Given the description of an element on the screen output the (x, y) to click on. 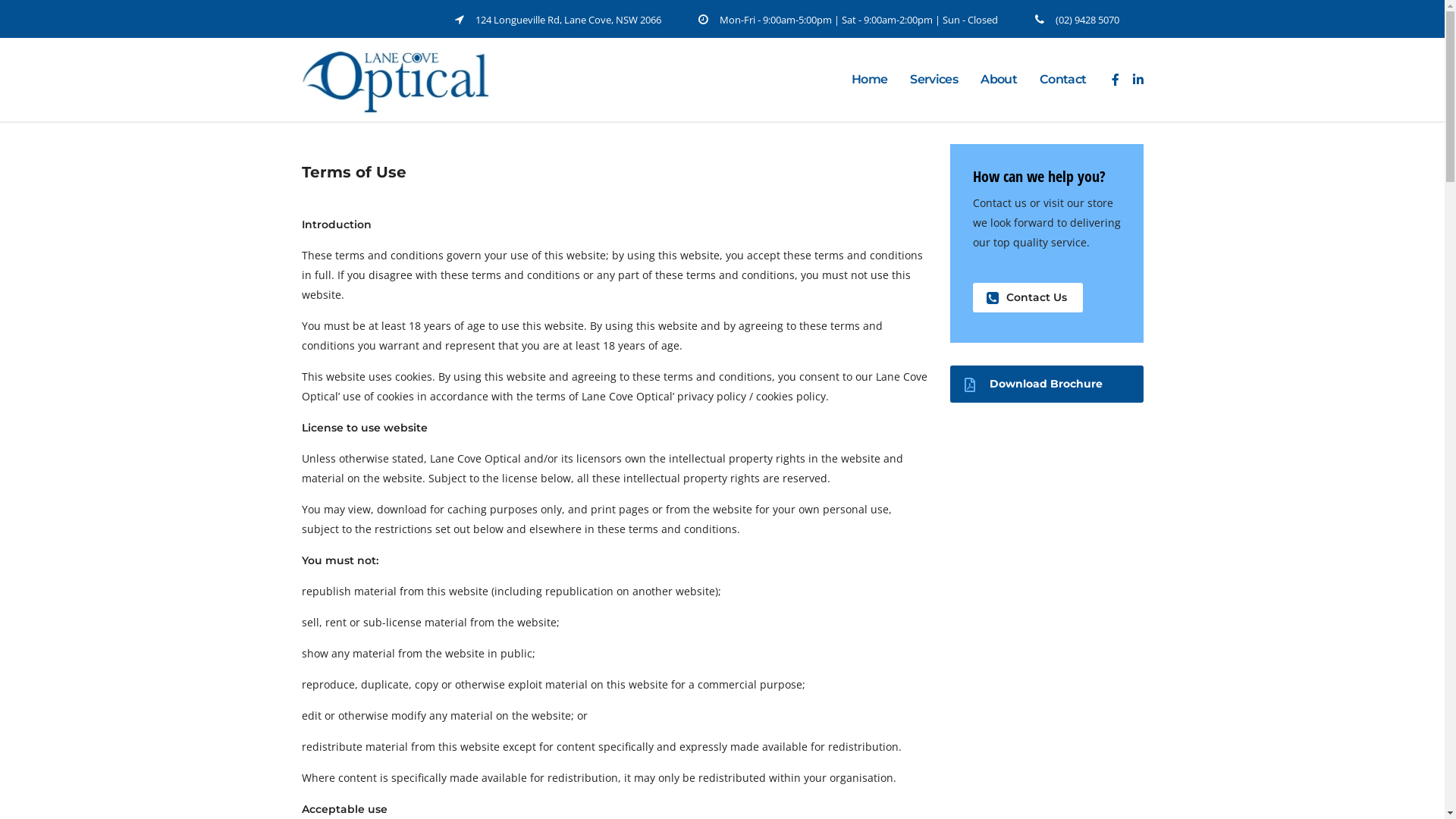
Download Brochure Element type: text (1045, 383)
Services Element type: text (933, 79)
About Element type: text (998, 79)
Contact Element type: text (1063, 79)
Home Element type: text (869, 79)
Contact Us Element type: text (1027, 297)
(02) 9428 5070 Element type: text (1087, 19)
